Given the description of an element on the screen output the (x, y) to click on. 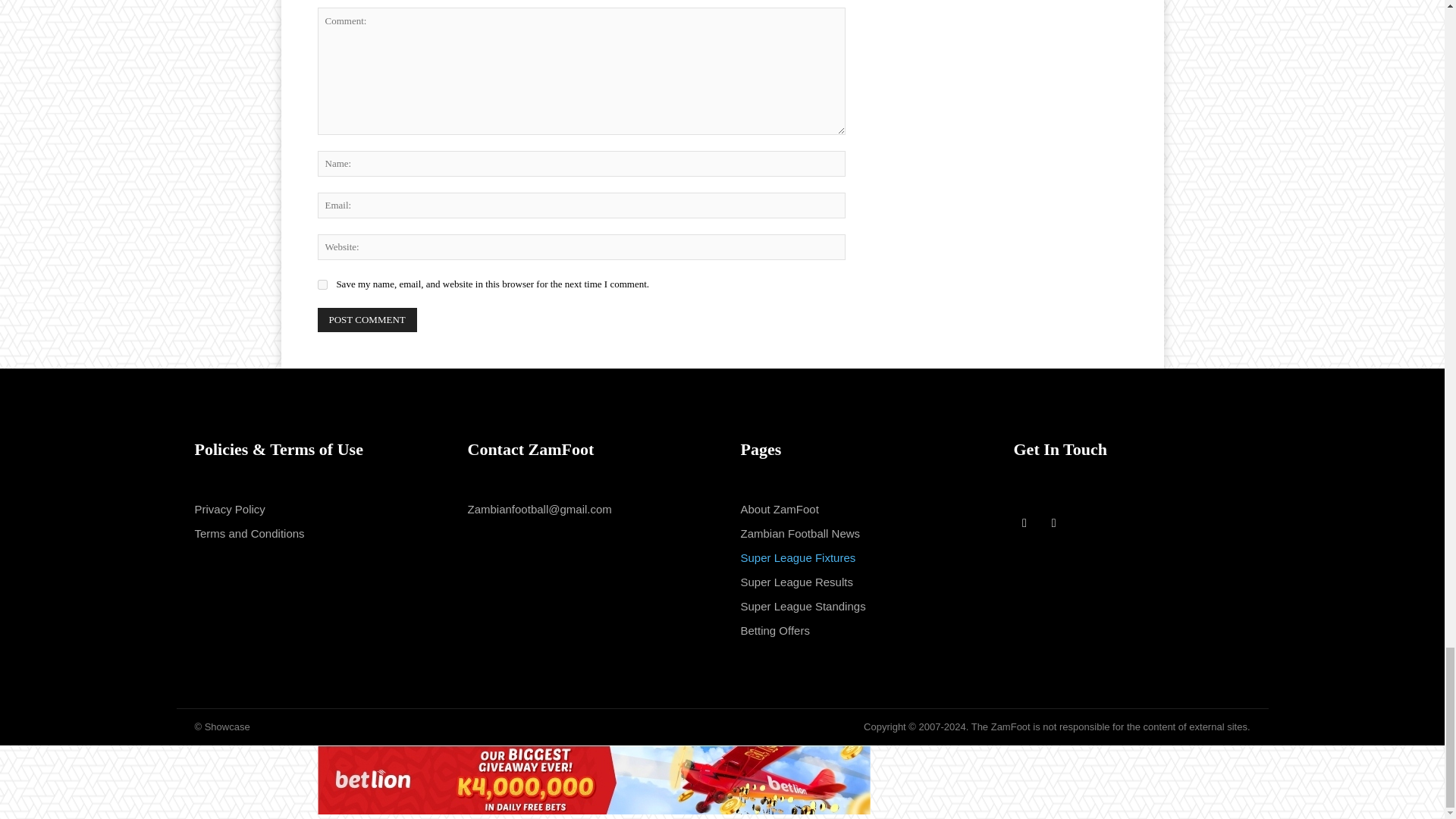
yes (321, 284)
Post Comment (366, 319)
